Given the description of an element on the screen output the (x, y) to click on. 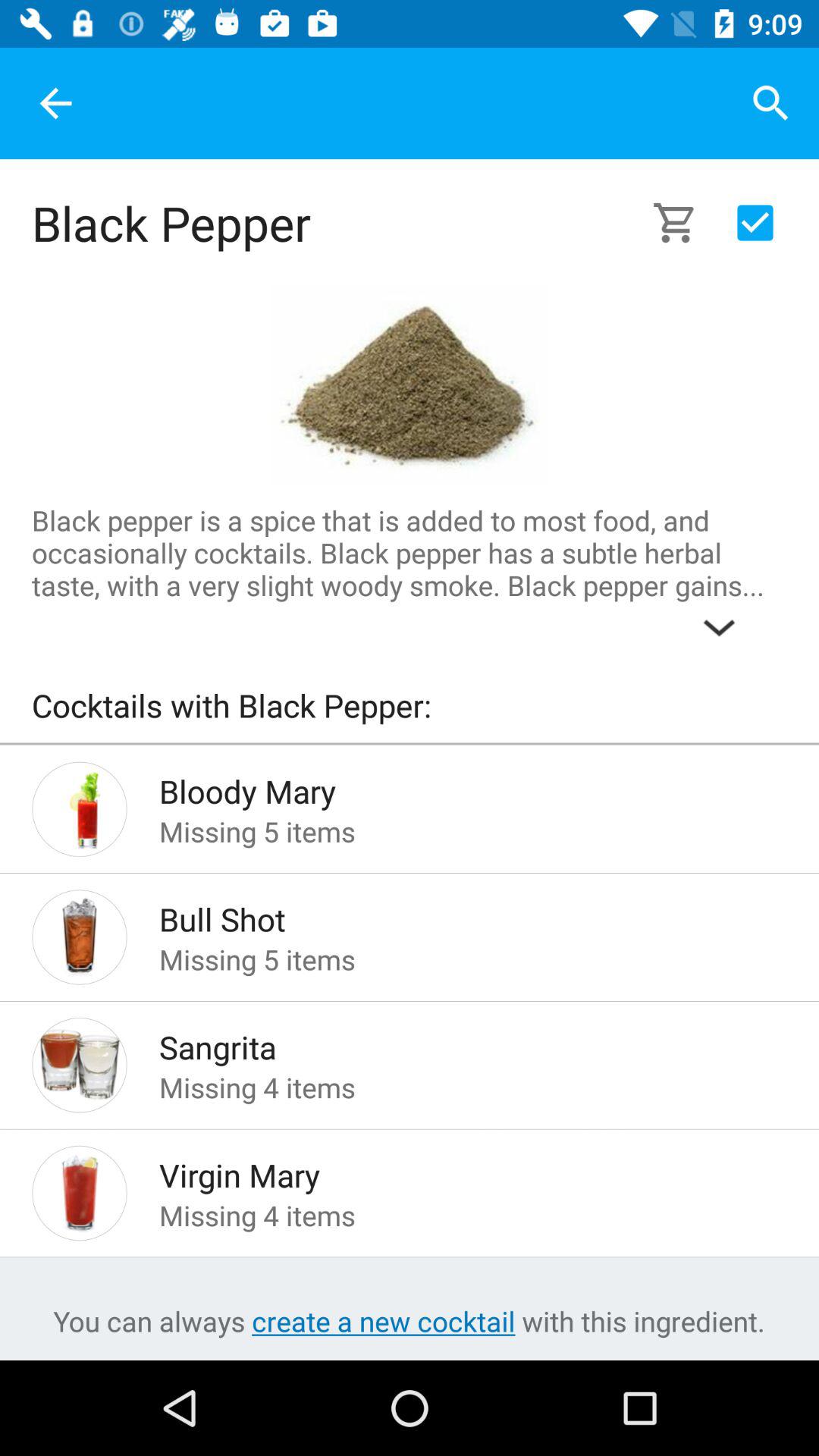
go to cart (683, 222)
